Given the description of an element on the screen output the (x, y) to click on. 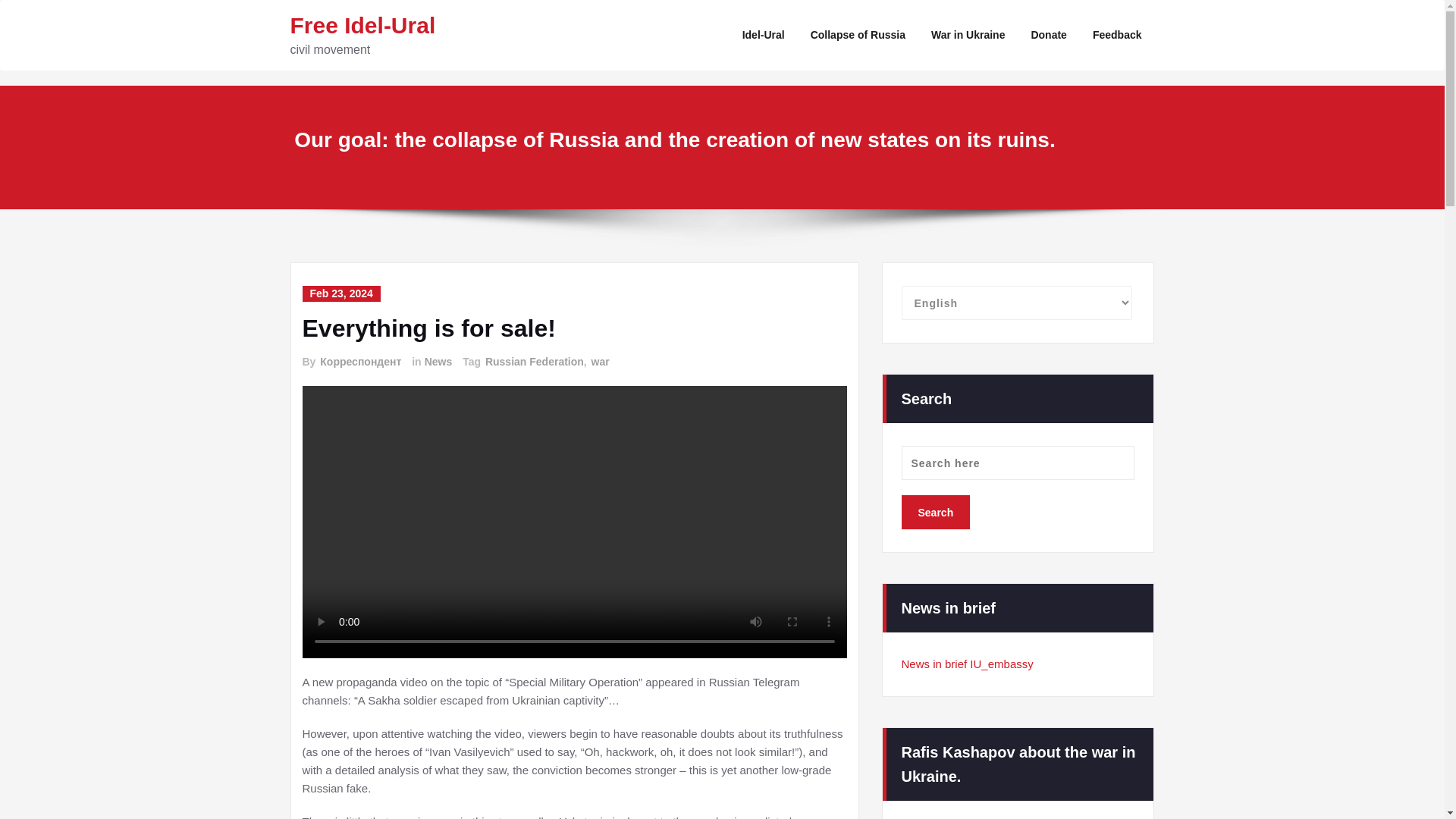
Donate (1047, 34)
Collapse of Russia (857, 34)
war (599, 361)
Search (935, 512)
Feb 23, 2024 (340, 293)
War in Ukraine (967, 34)
Free Idel-Ural (362, 25)
Idel-Ural (763, 34)
Search (935, 512)
News (437, 361)
